Given the description of an element on the screen output the (x, y) to click on. 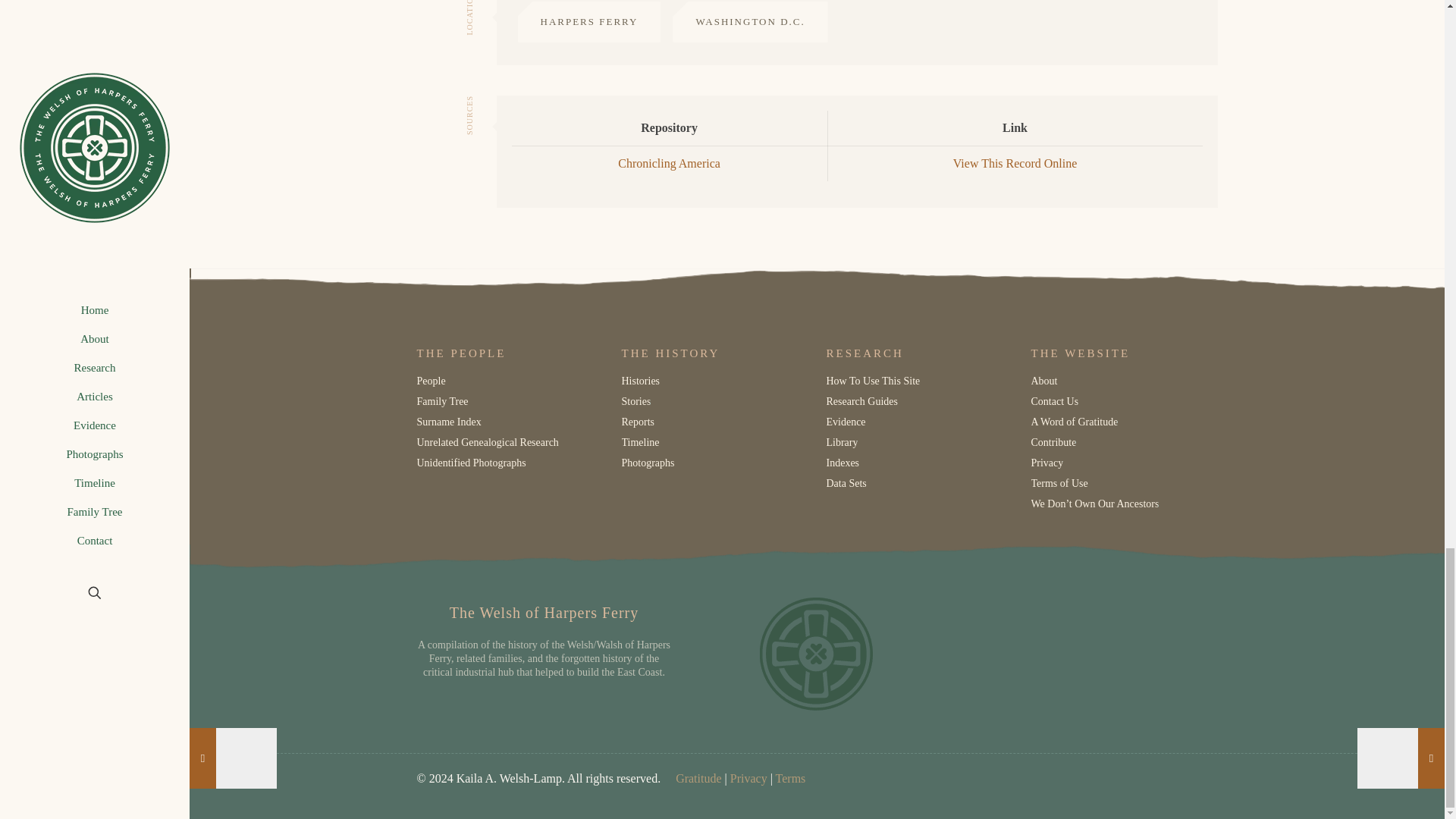
Family Tree (442, 401)
Surname Index (448, 421)
HARPERS FERRY (588, 21)
People (430, 381)
Chronicling America (668, 163)
View This Record Online (1015, 163)
WASHINGTON D.C. (749, 21)
